Given the description of an element on the screen output the (x, y) to click on. 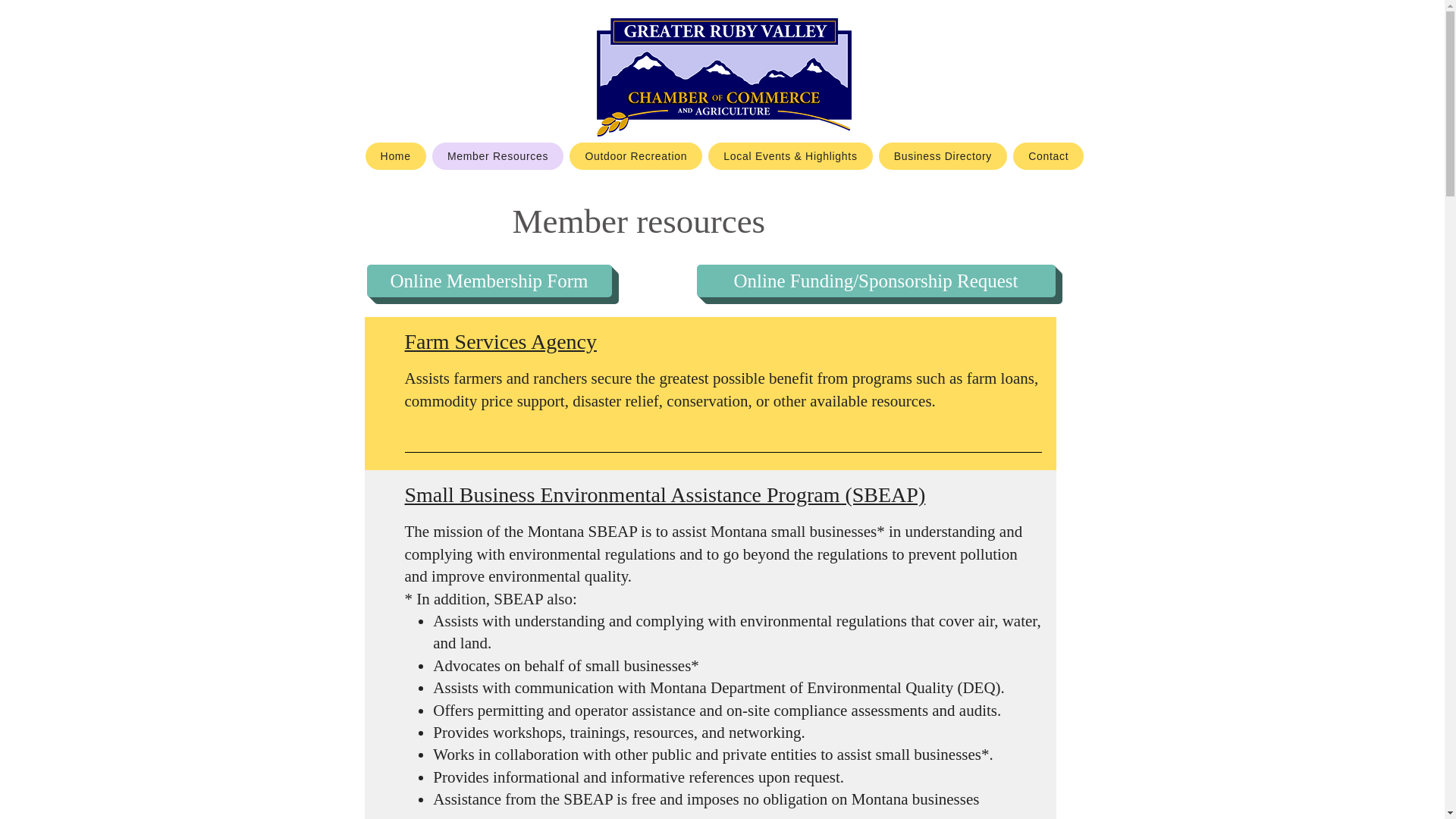
Farm Services Agency (500, 341)
Member Resources (498, 155)
Contact (1048, 155)
Online Membership Form (488, 280)
Business Directory (943, 155)
Home (395, 155)
Outdoor Recreation (635, 155)
